Given the description of an element on the screen output the (x, y) to click on. 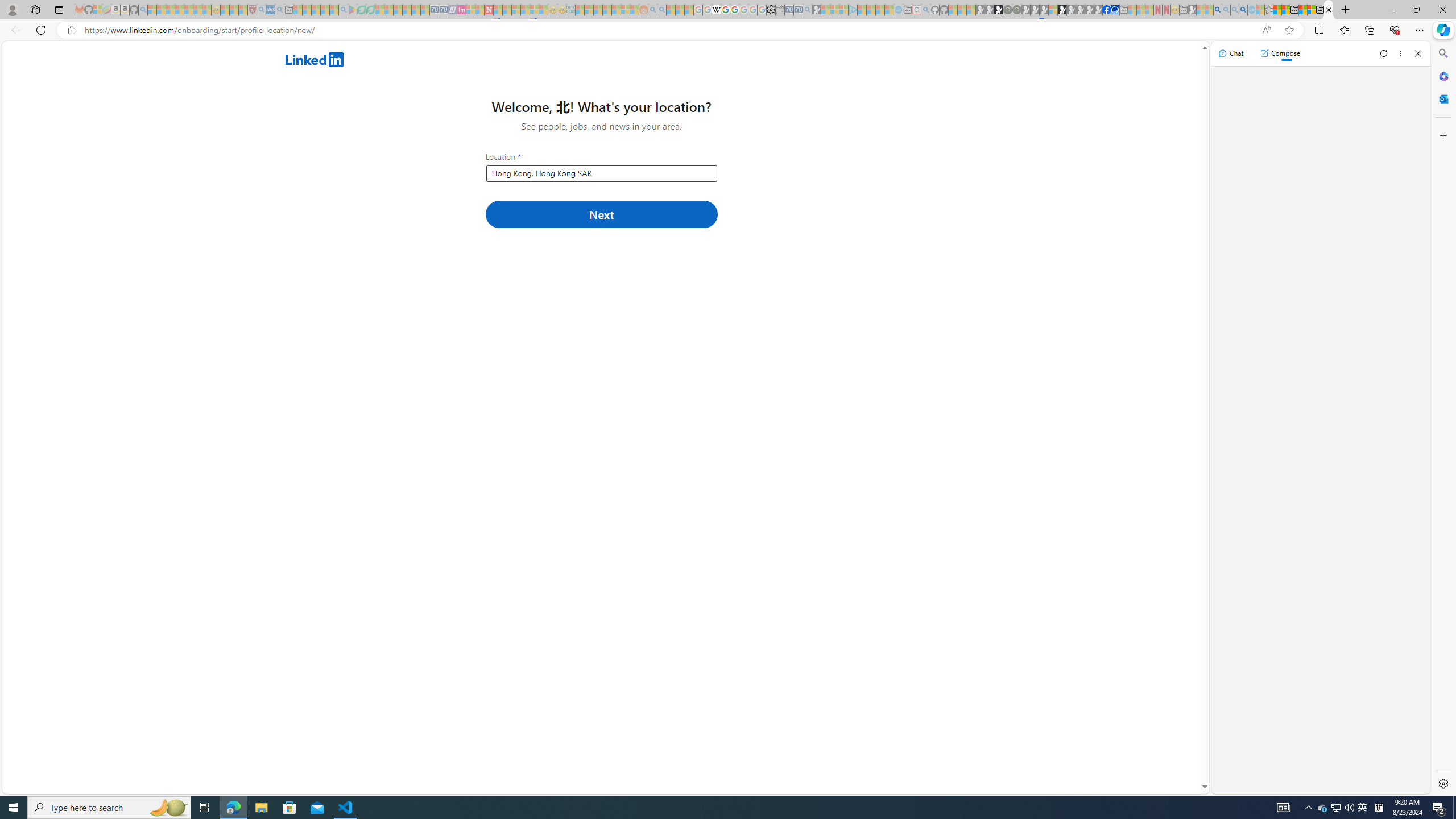
Microsoft Start Gaming - Sleeping (815, 9)
Future Focus Report 2024 - Sleeping (1016, 9)
MSN - Sleeping (1191, 9)
